Given the description of an element on the screen output the (x, y) to click on. 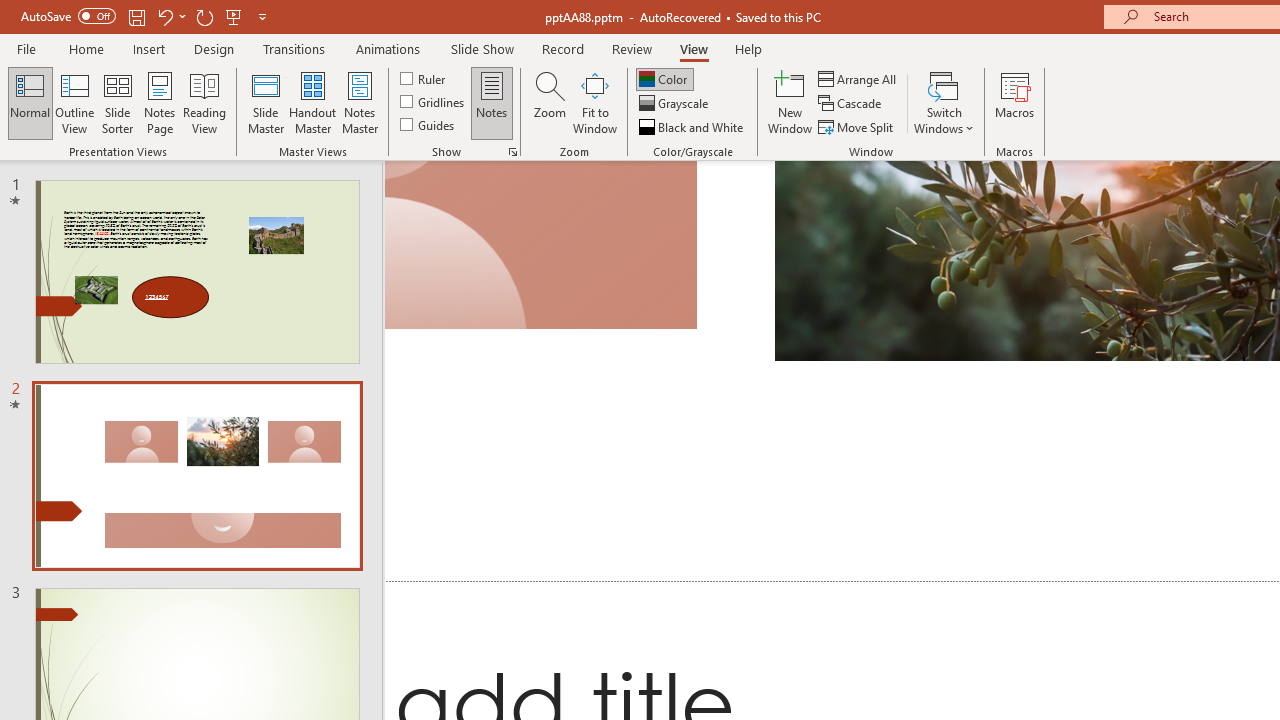
Slide Master (265, 102)
Notes Page (159, 102)
Switch Windows (943, 102)
Move Split (857, 126)
Notes Master (360, 102)
Notes (492, 102)
Ruler (423, 78)
Macros (1014, 102)
